Given the description of an element on the screen output the (x, y) to click on. 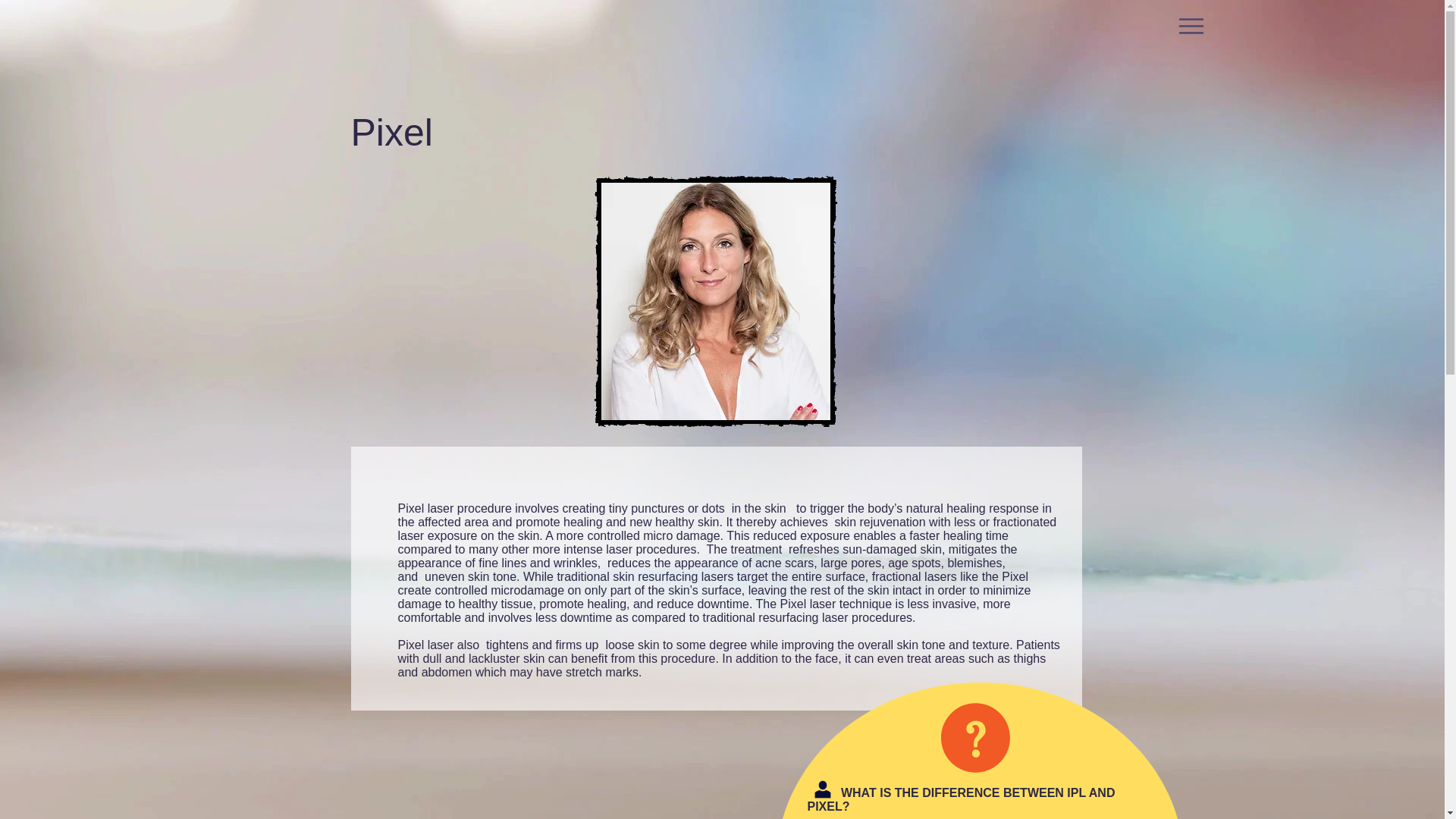
uneven skin tone (470, 576)
age spots (914, 562)
acne scars (784, 562)
large pores (850, 562)
